Given the description of an element on the screen output the (x, y) to click on. 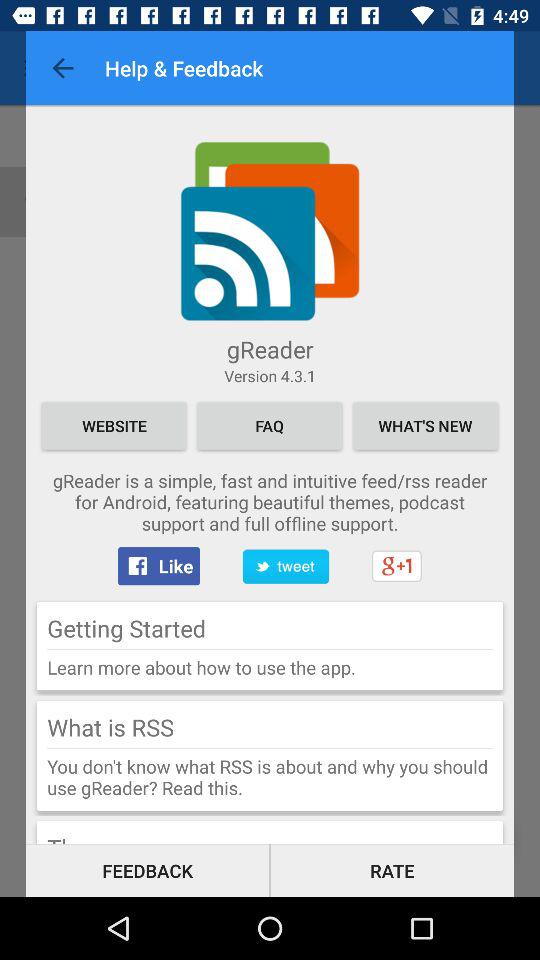
click the item to the left of help & feedback (62, 68)
